Given the description of an element on the screen output the (x, y) to click on. 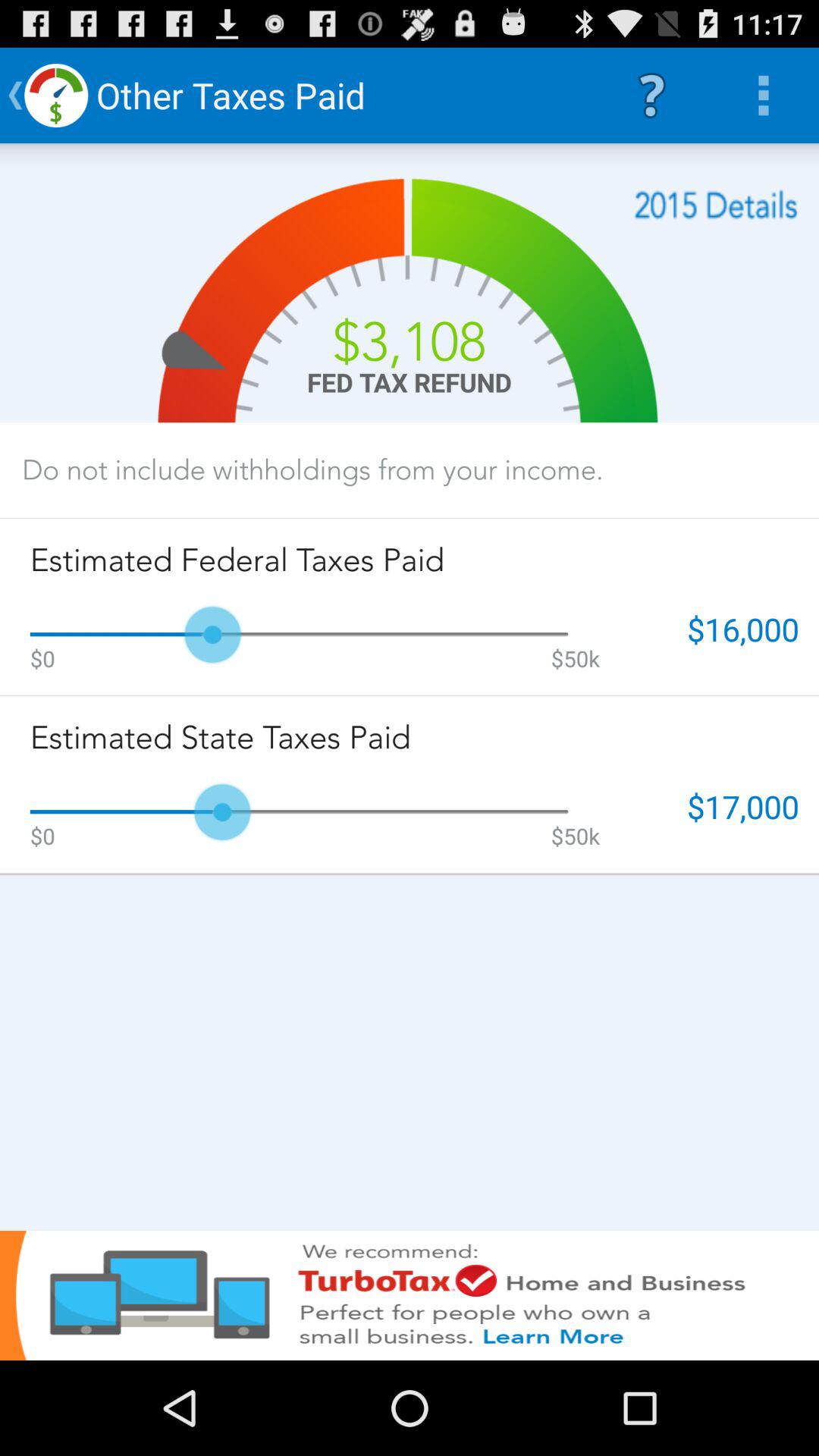
view details (715, 204)
